Given the description of an element on the screen output the (x, y) to click on. 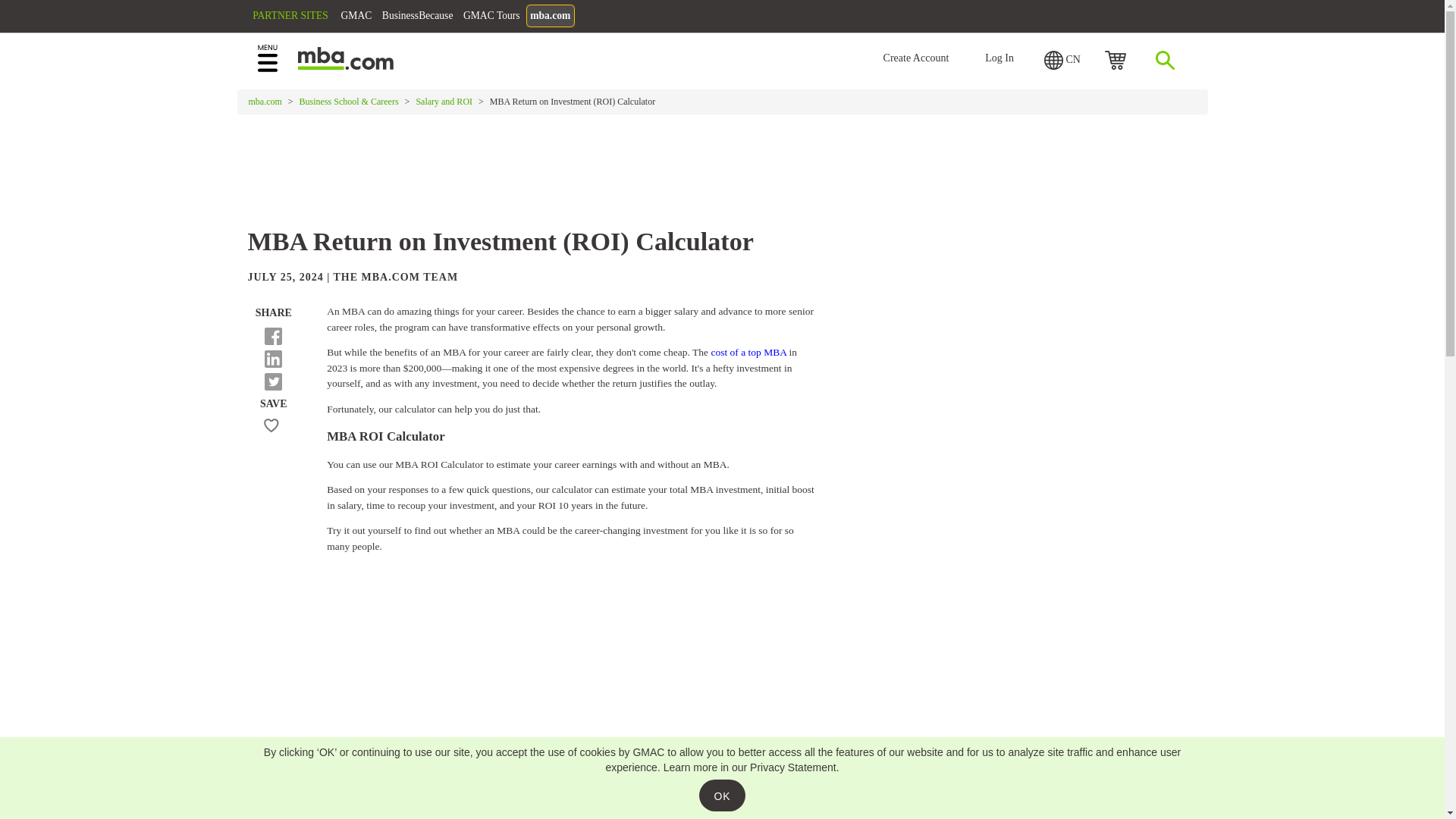
mba.com (646, 17)
GMAC (419, 17)
GMAC Tours (577, 17)
3rd party ad content (721, 163)
BusinessBecause (491, 17)
PARTNER SITES (345, 18)
